Given the description of an element on the screen output the (x, y) to click on. 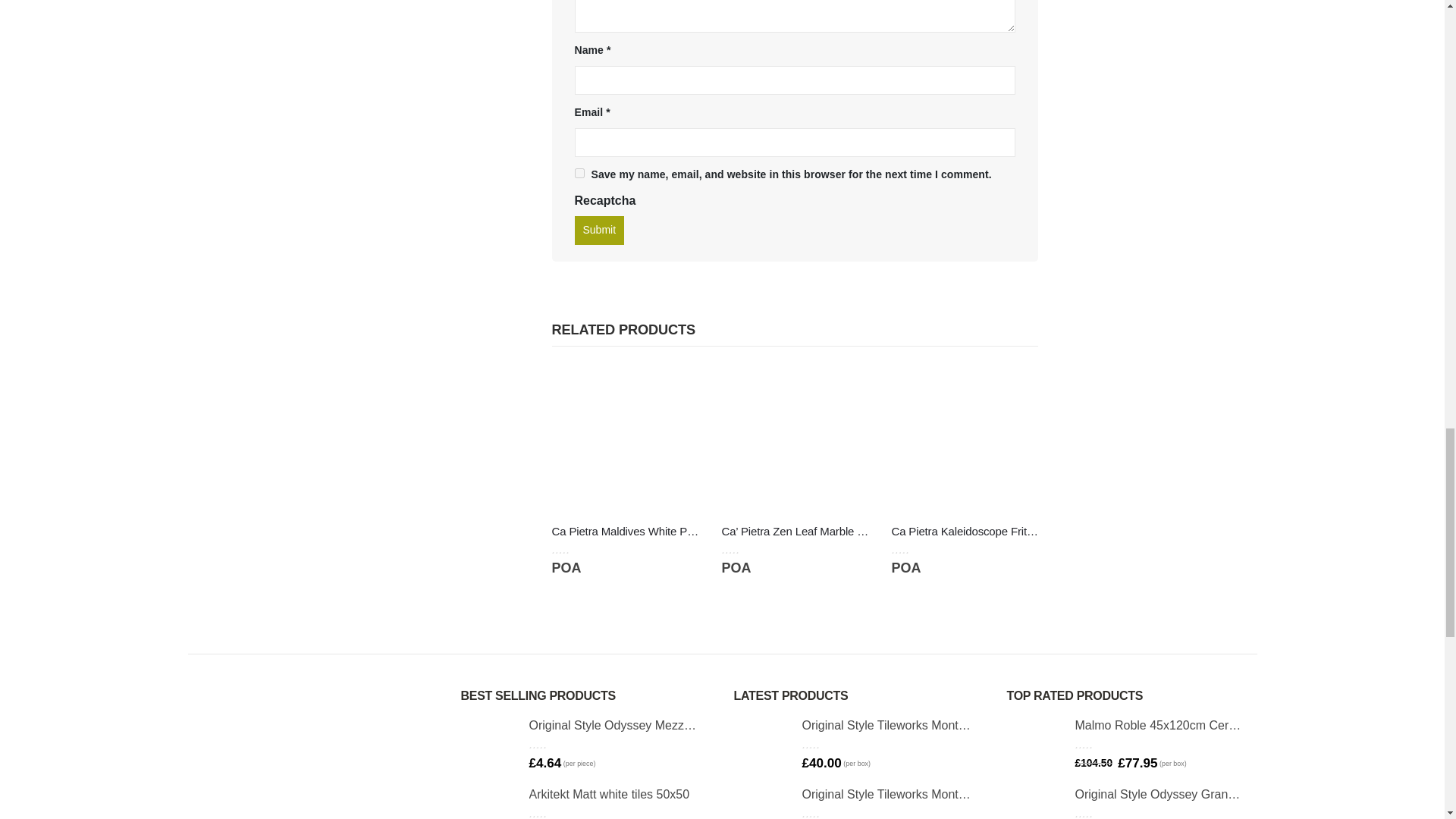
0 (576, 549)
Submit (599, 230)
Submit (599, 230)
0 (745, 549)
0 (915, 549)
Ca Pietra Maldives White Polished porcelain (624, 531)
yes (580, 173)
